Given the description of an element on the screen output the (x, y) to click on. 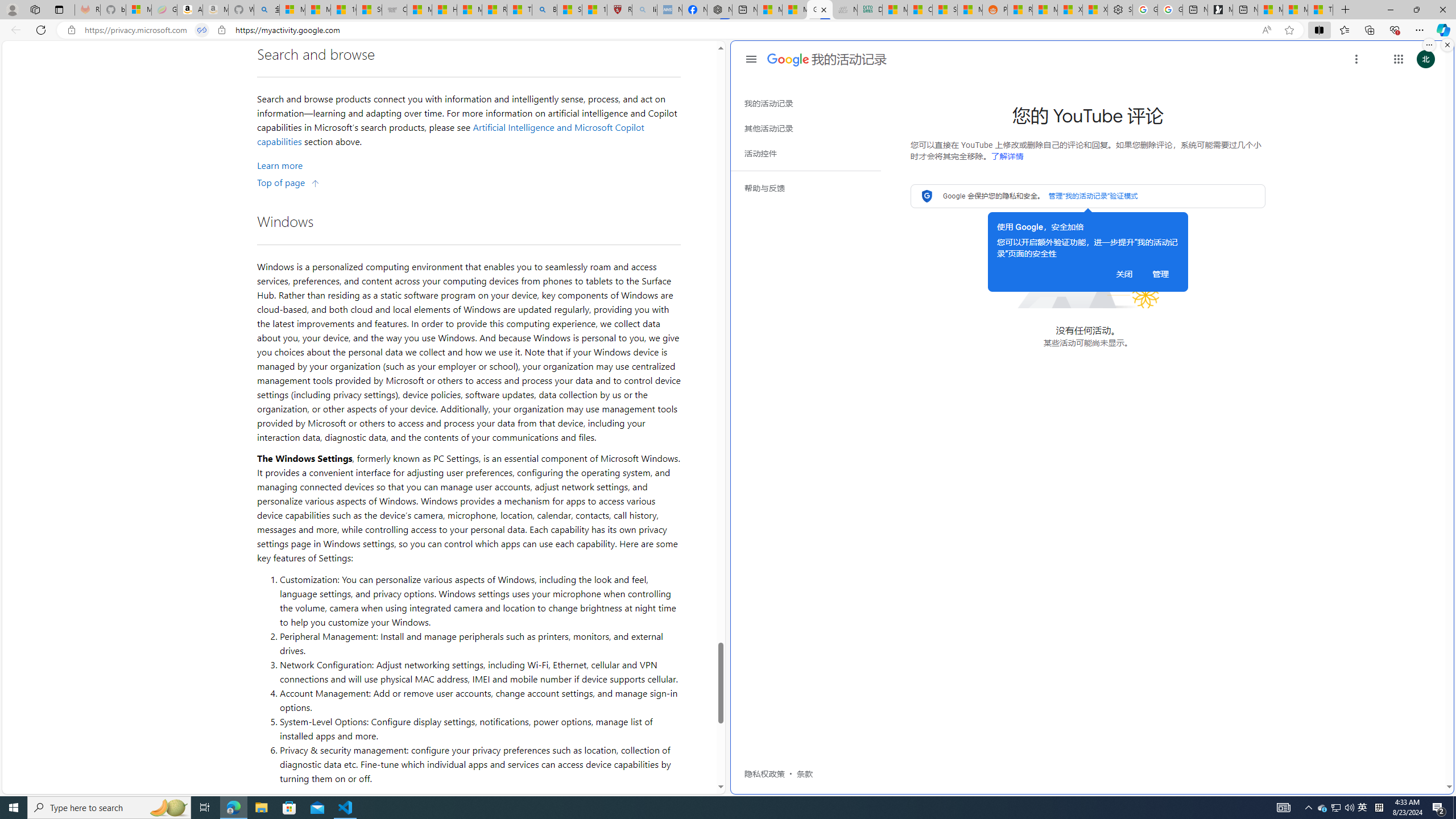
New Tab (1346, 9)
Stocks - MSN (944, 9)
More options. (1428, 45)
NCL Adult Asthma Inhaler Choice Guideline - Sleeping (669, 9)
12 Popular Science Lies that Must be Corrected (593, 9)
App bar (728, 29)
Microsoft Start Gaming (1219, 9)
Class: gb_E (1398, 59)
Refresh (40, 29)
New tab (1244, 9)
